Given the description of an element on the screen output the (x, y) to click on. 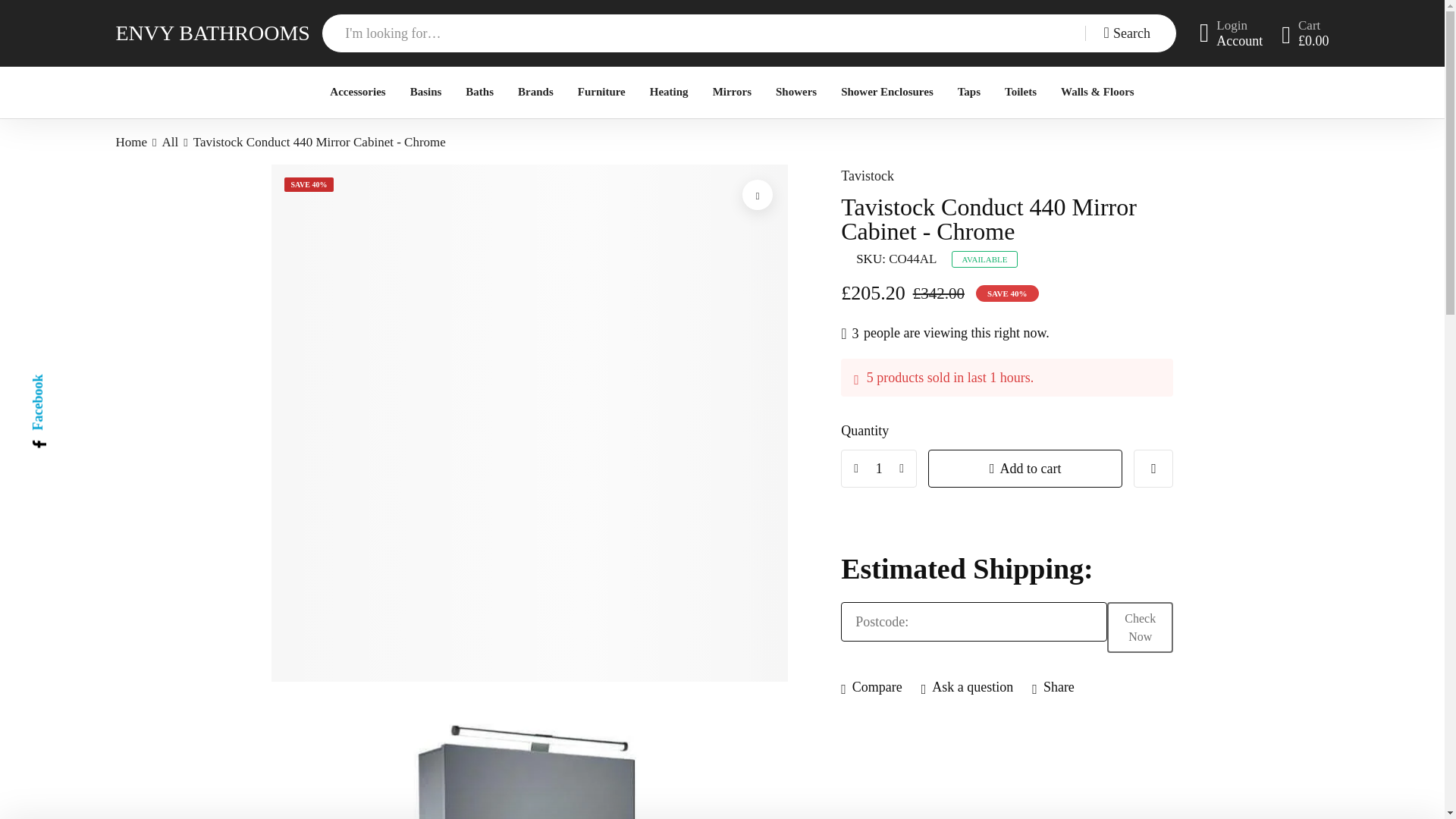
ENVY BATHROOMS (211, 33)
All (170, 142)
Home (131, 142)
Add to cart (1025, 468)
Check Now (1139, 626)
1 (879, 468)
Compare (871, 686)
Search (1130, 33)
Share (1053, 686)
All (170, 142)
Ask a question (967, 686)
Tavistock (867, 175)
Accessories (357, 91)
Furniture (602, 91)
Shower Enclosures (887, 91)
